Given the description of an element on the screen output the (x, y) to click on. 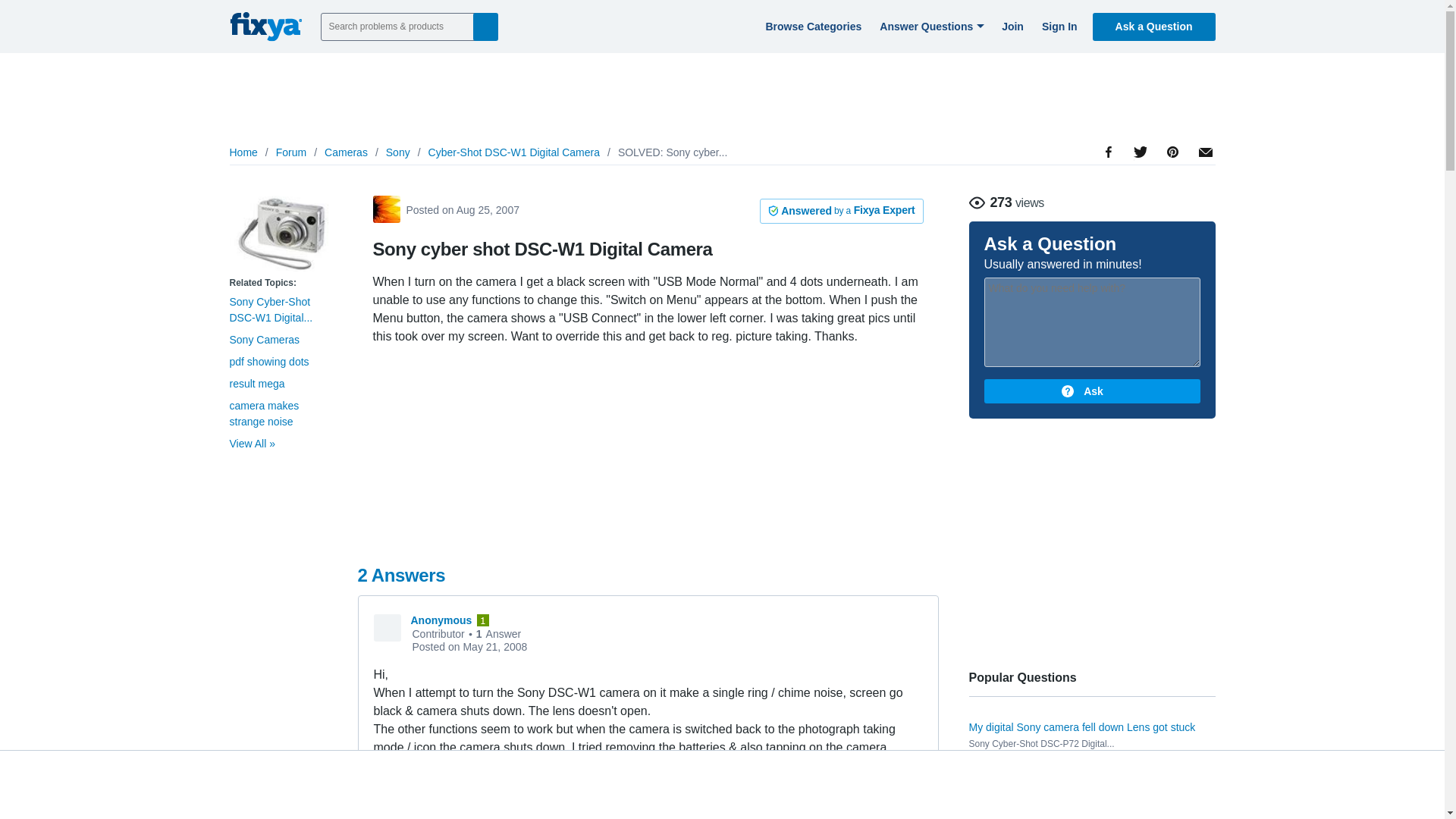
Sony Cyber-Shot DSC-W1 Digital... (270, 309)
Sony (397, 152)
Forum (290, 152)
Sony Cameras (263, 339)
Search Fixya (485, 26)
Cyber-Shot DSC-W1 Digital Camera (513, 152)
Home (242, 152)
camera makes strange noise (263, 413)
Cameras (346, 152)
Browse Categories (810, 26)
